Given the description of an element on the screen output the (x, y) to click on. 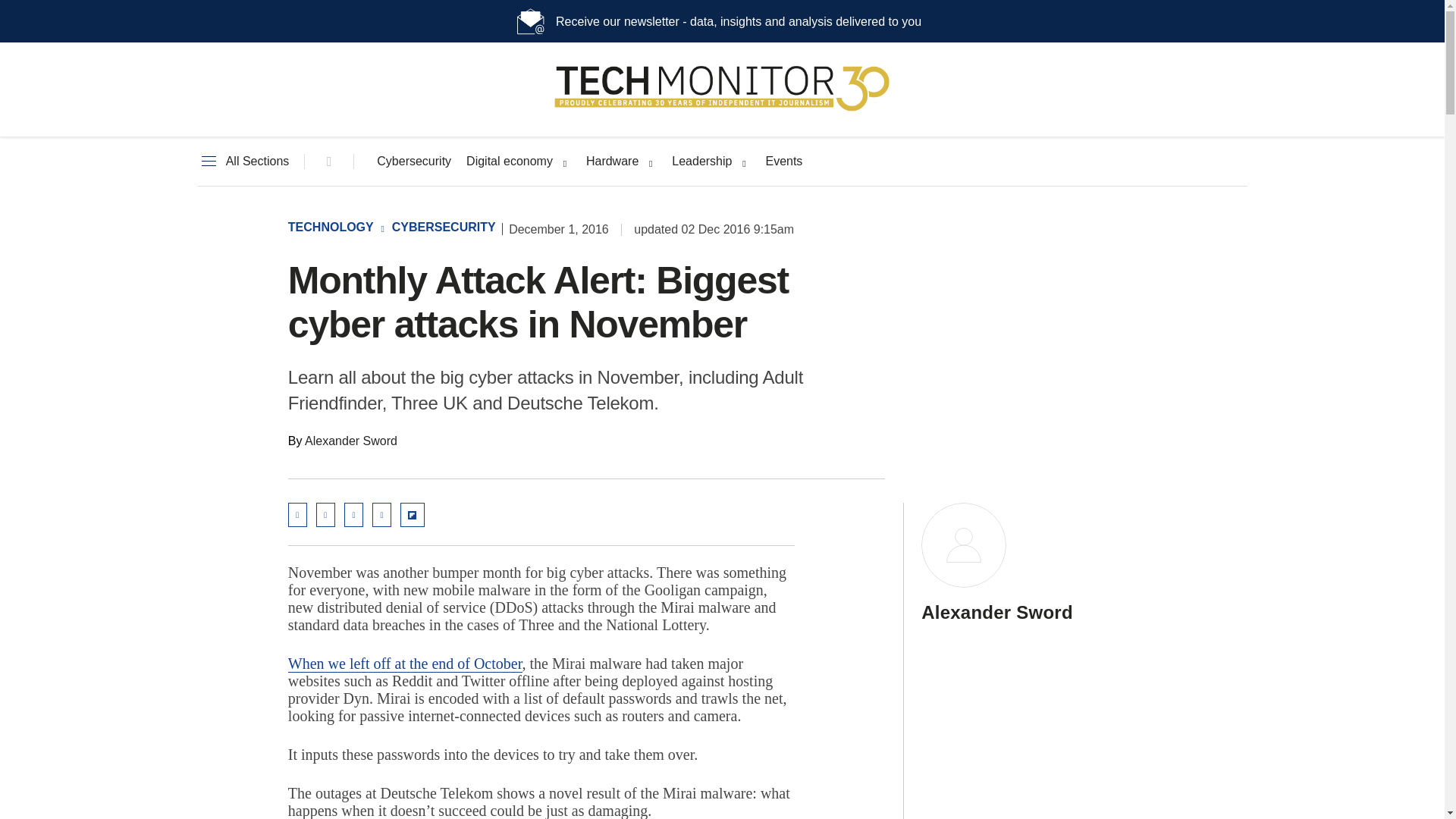
Share on Flipboard (412, 514)
Leadership (701, 161)
Hardware (612, 161)
Cybersecurity (414, 161)
All Sections (242, 161)
Tech Monitor (722, 110)
Events (783, 161)
Digital economy (509, 161)
